Given the description of an element on the screen output the (x, y) to click on. 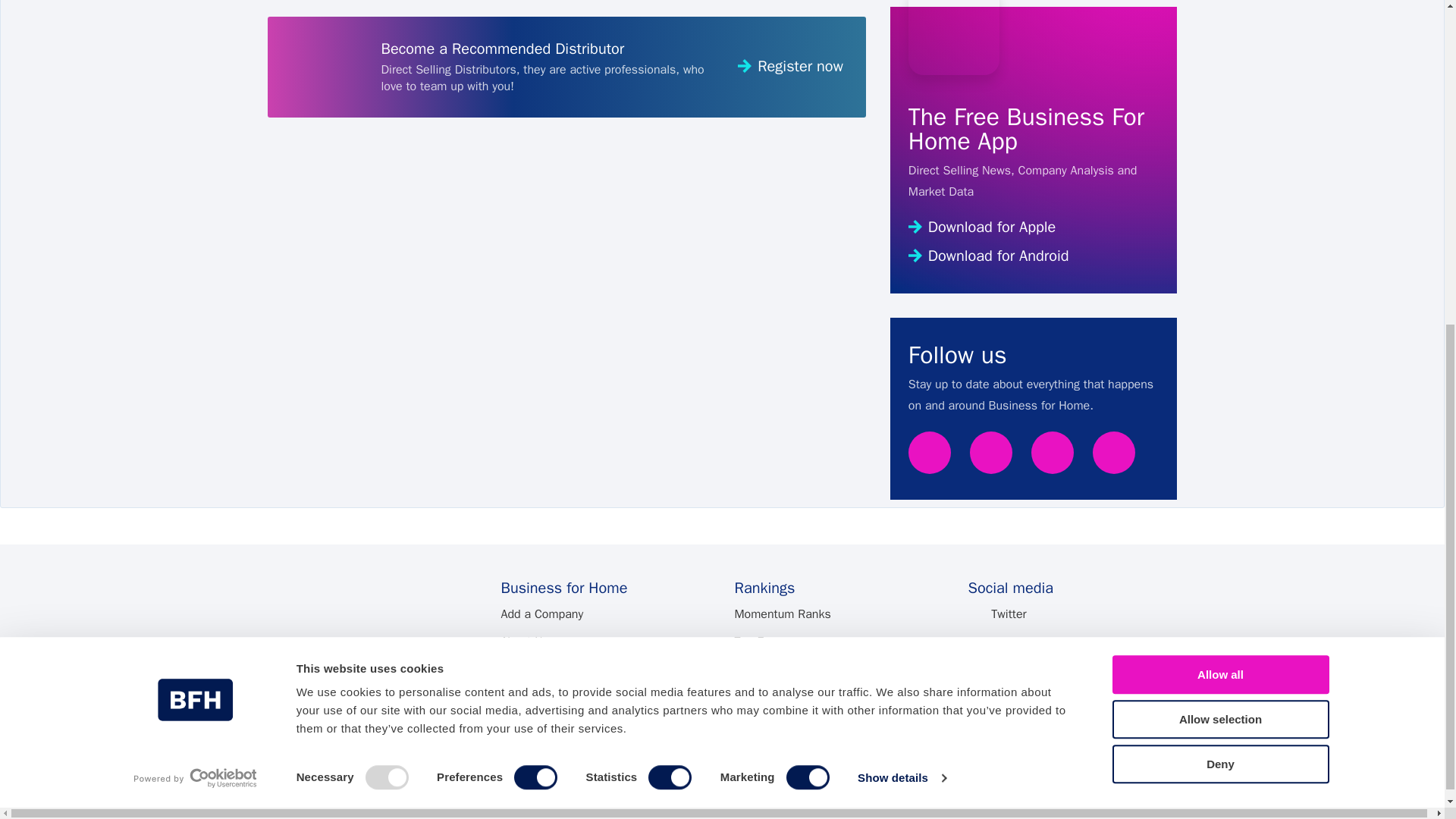
Show details (900, 232)
